Given the description of an element on the screen output the (x, y) to click on. 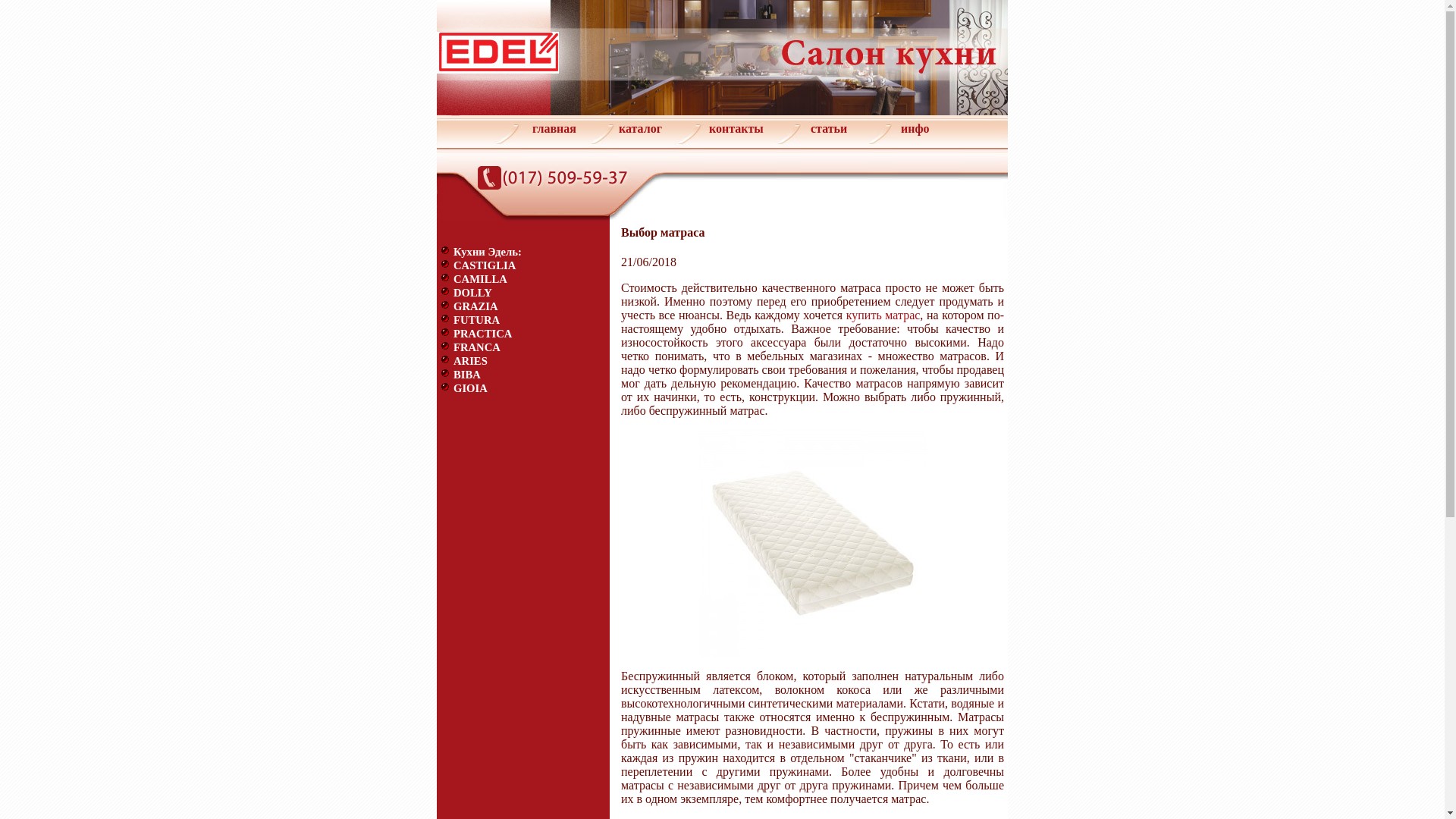
GIOIA Element type: text (470, 388)
BIBA Element type: text (466, 374)
GRAZIA Element type: text (475, 306)
CASTIGLIA Element type: text (484, 265)
CAMILLA Element type: text (480, 279)
PRACTICA Element type: text (482, 333)
DOLLY Element type: text (472, 292)
ARIES Element type: text (470, 360)
FUTURA Element type: text (476, 319)
FRANCA Element type: text (476, 347)
